Given the description of an element on the screen output the (x, y) to click on. 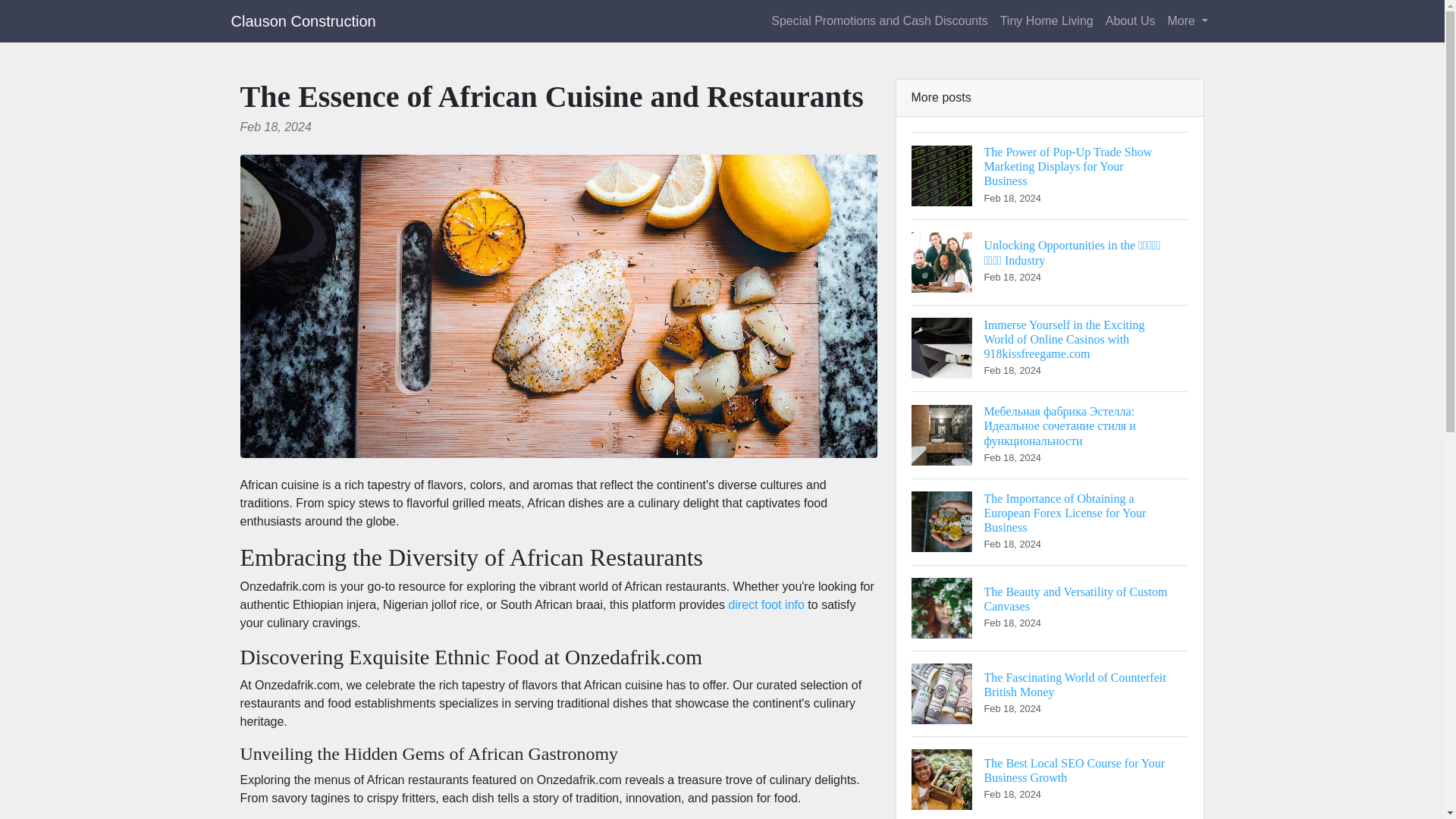
direct foot info (766, 604)
More (1187, 20)
Special Promotions and Cash Discounts (878, 20)
Tiny Home Living (1046, 20)
About Us (1050, 607)
Clauson Construction (1130, 20)
